Given the description of an element on the screen output the (x, y) to click on. 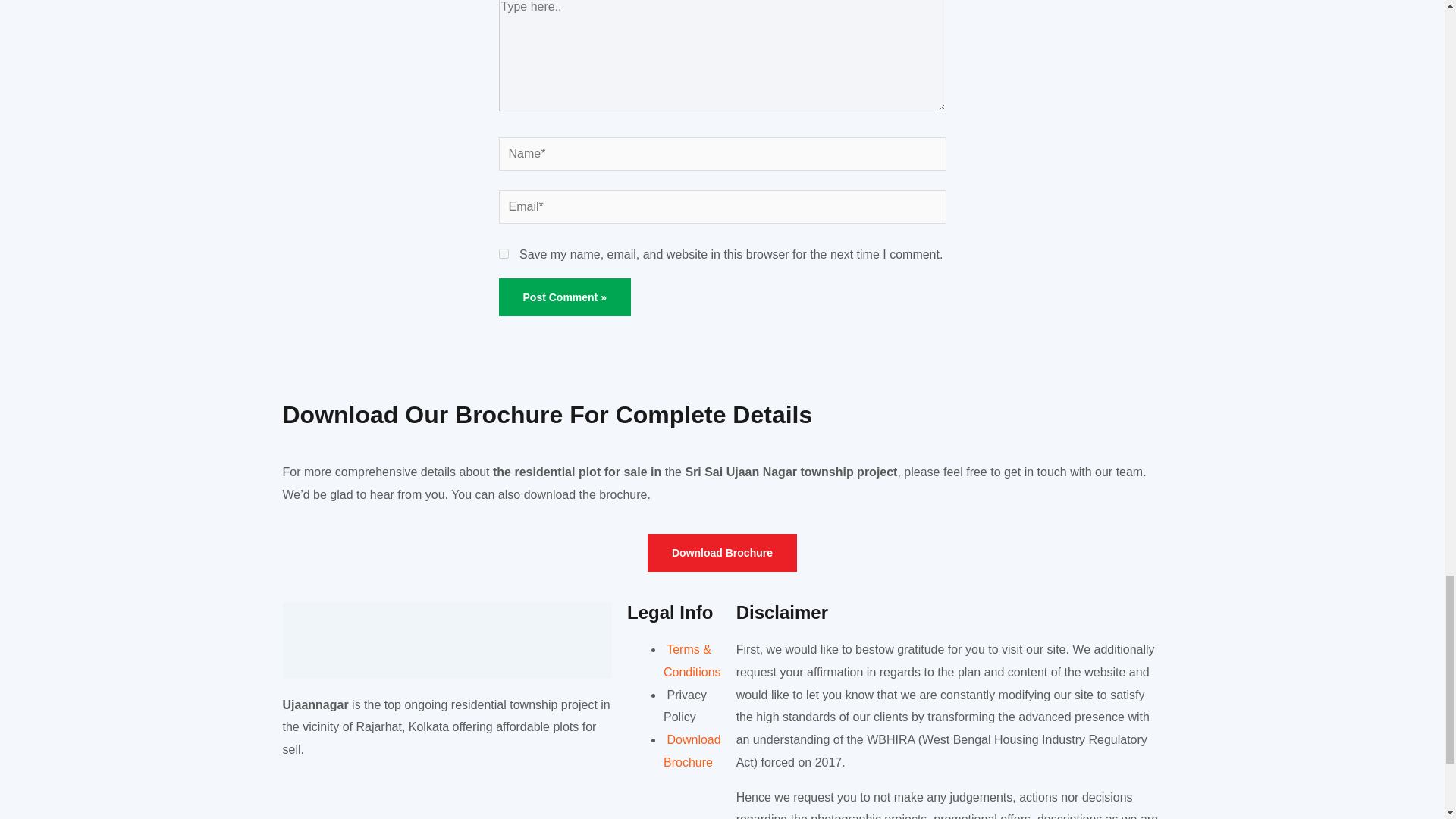
yes (503, 253)
Download Brochure (721, 552)
Download Brochure (691, 751)
